Given the description of an element on the screen output the (x, y) to click on. 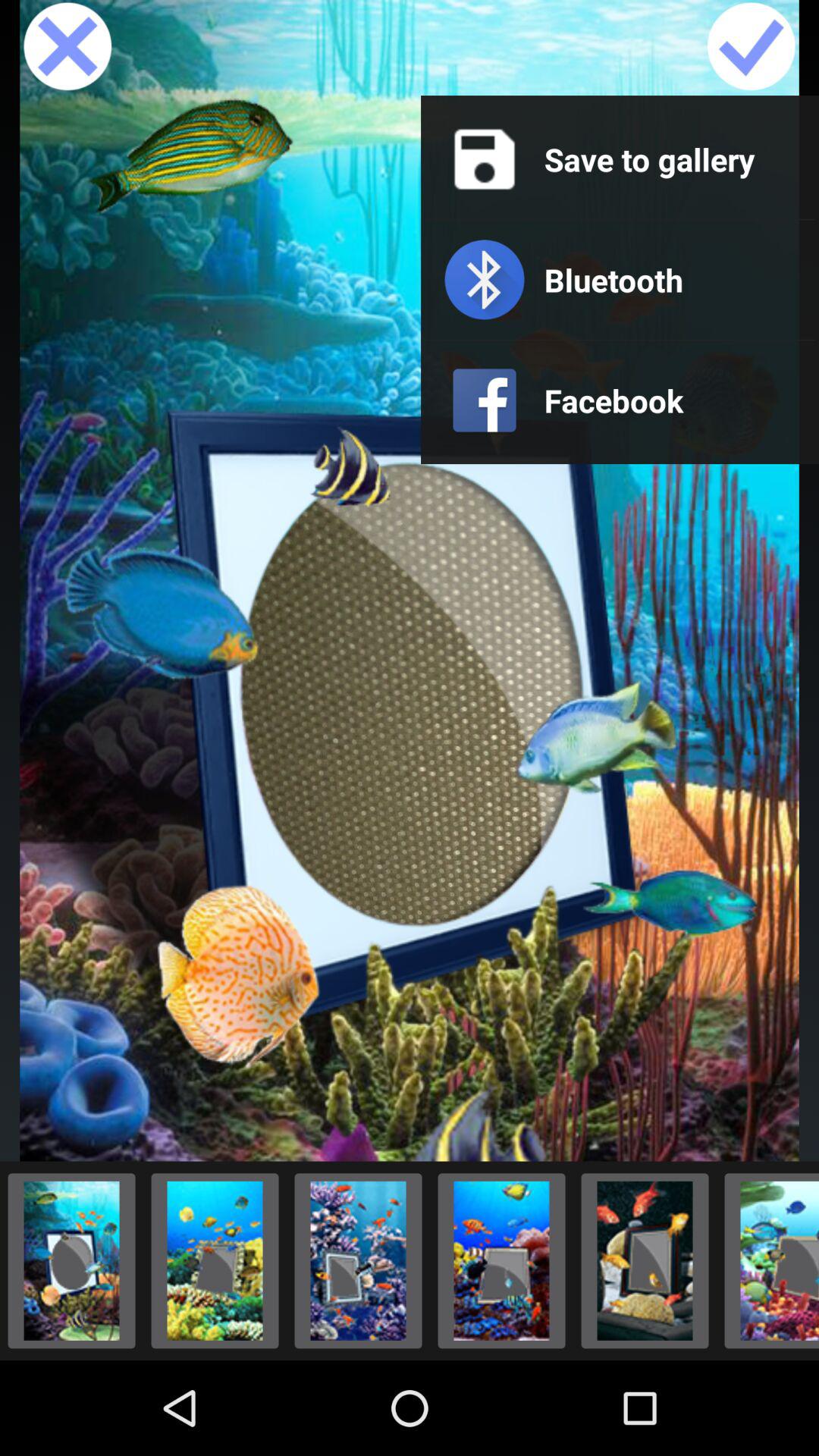
select background (501, 1260)
